Given the description of an element on the screen output the (x, y) to click on. 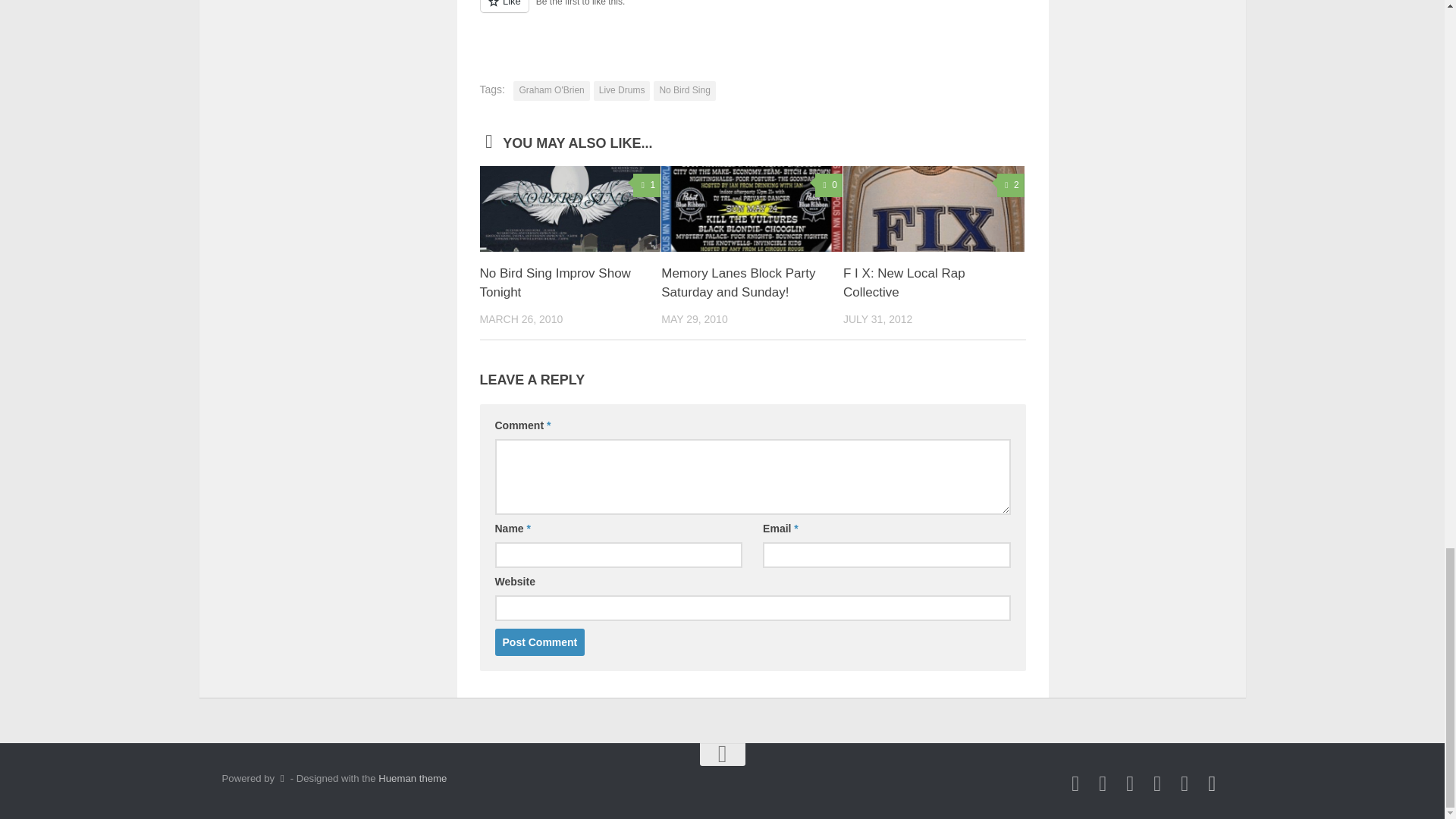
Post Comment (540, 642)
